Given the description of an element on the screen output the (x, y) to click on. 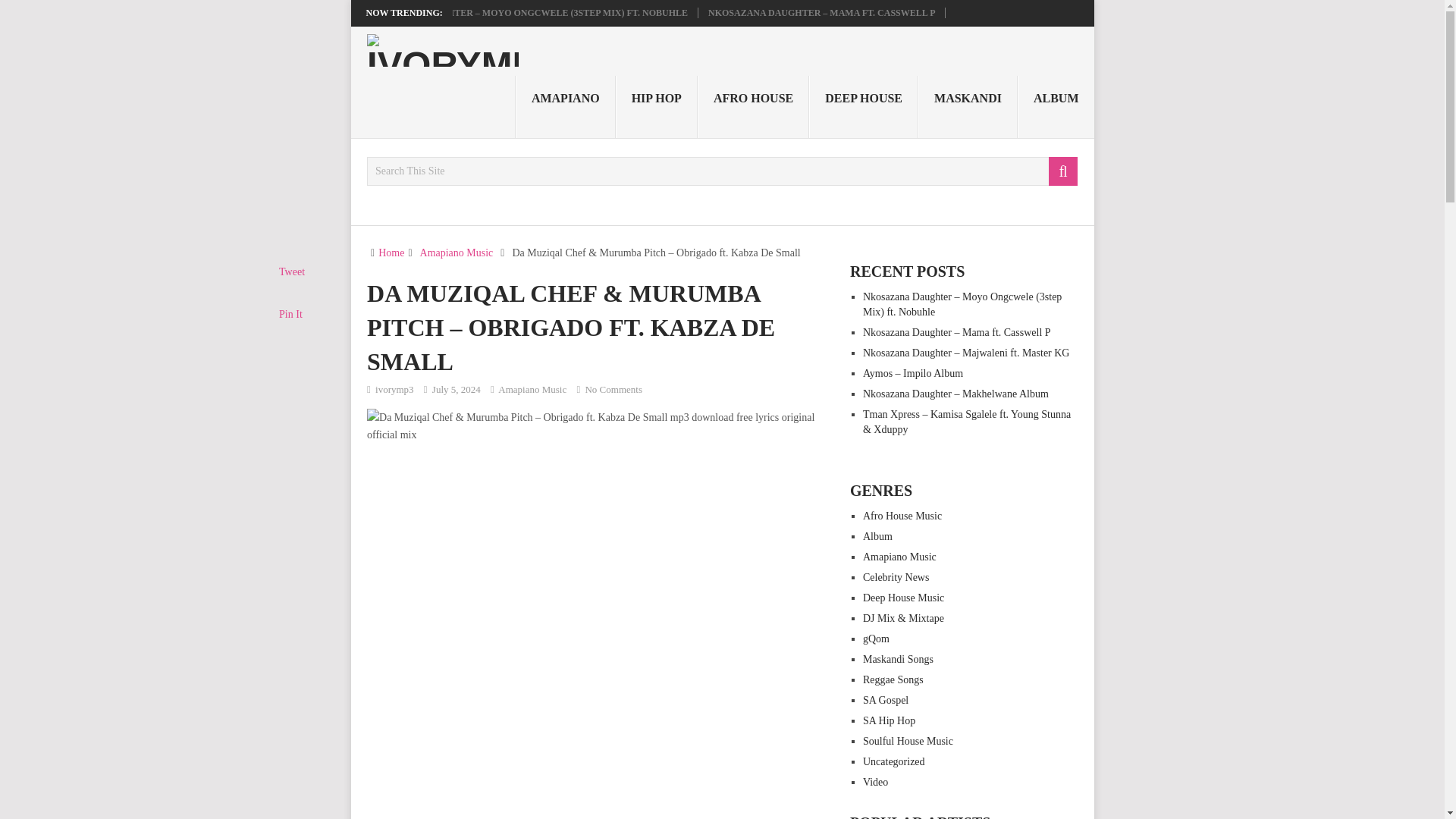
Pin It (290, 314)
MASKANDI (967, 107)
View all posts in Amapiano Music (531, 389)
Posts by ivorymp3 (394, 389)
AMAPIANO (565, 107)
HIP HOP (656, 107)
Amapiano Music (456, 252)
ivorymp3 (394, 389)
Home (391, 252)
AFRO HOUSE (753, 107)
